Given the description of an element on the screen output the (x, y) to click on. 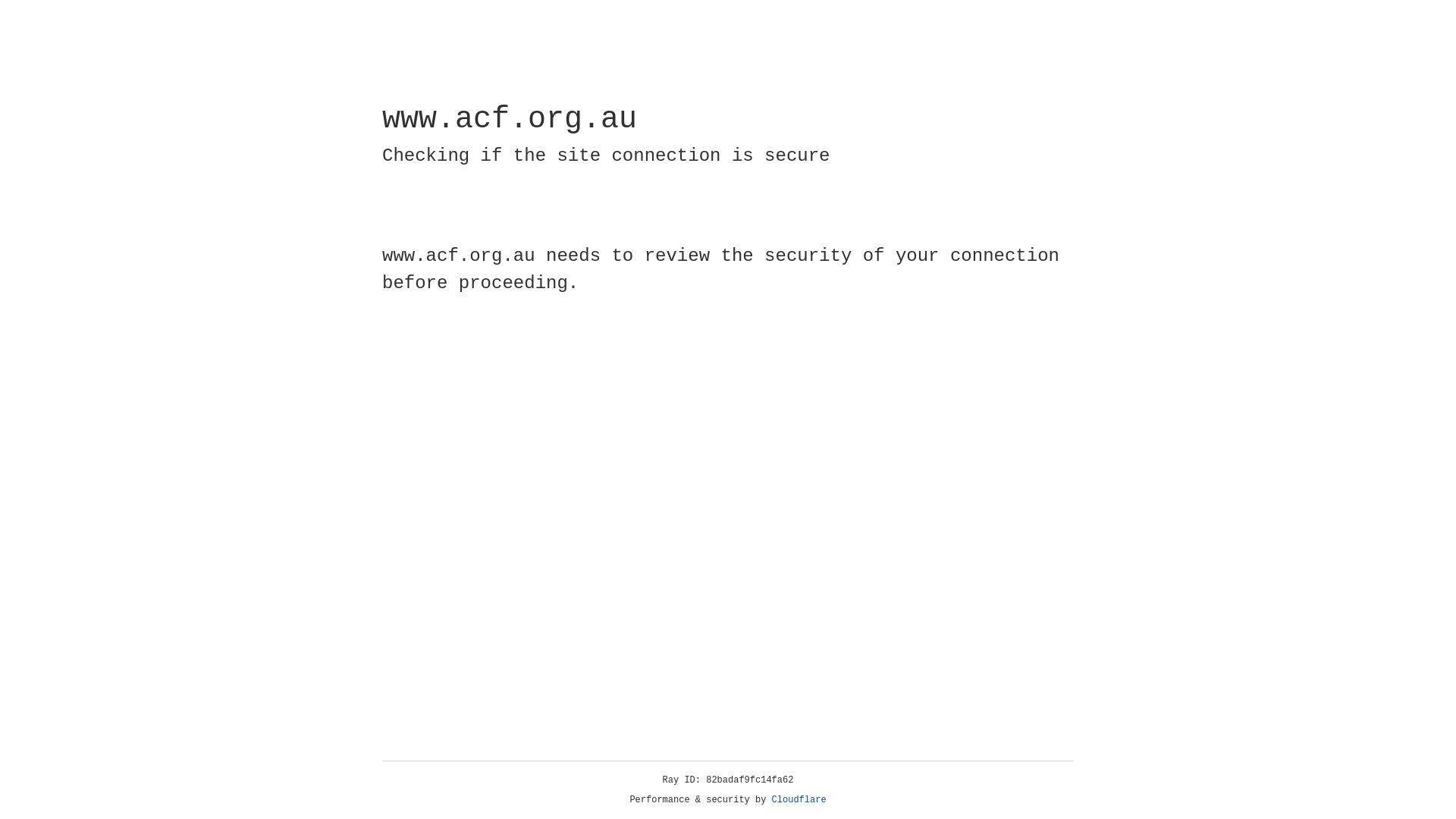
Cloudflare Element type: text (798, 799)
